Given the description of an element on the screen output the (x, y) to click on. 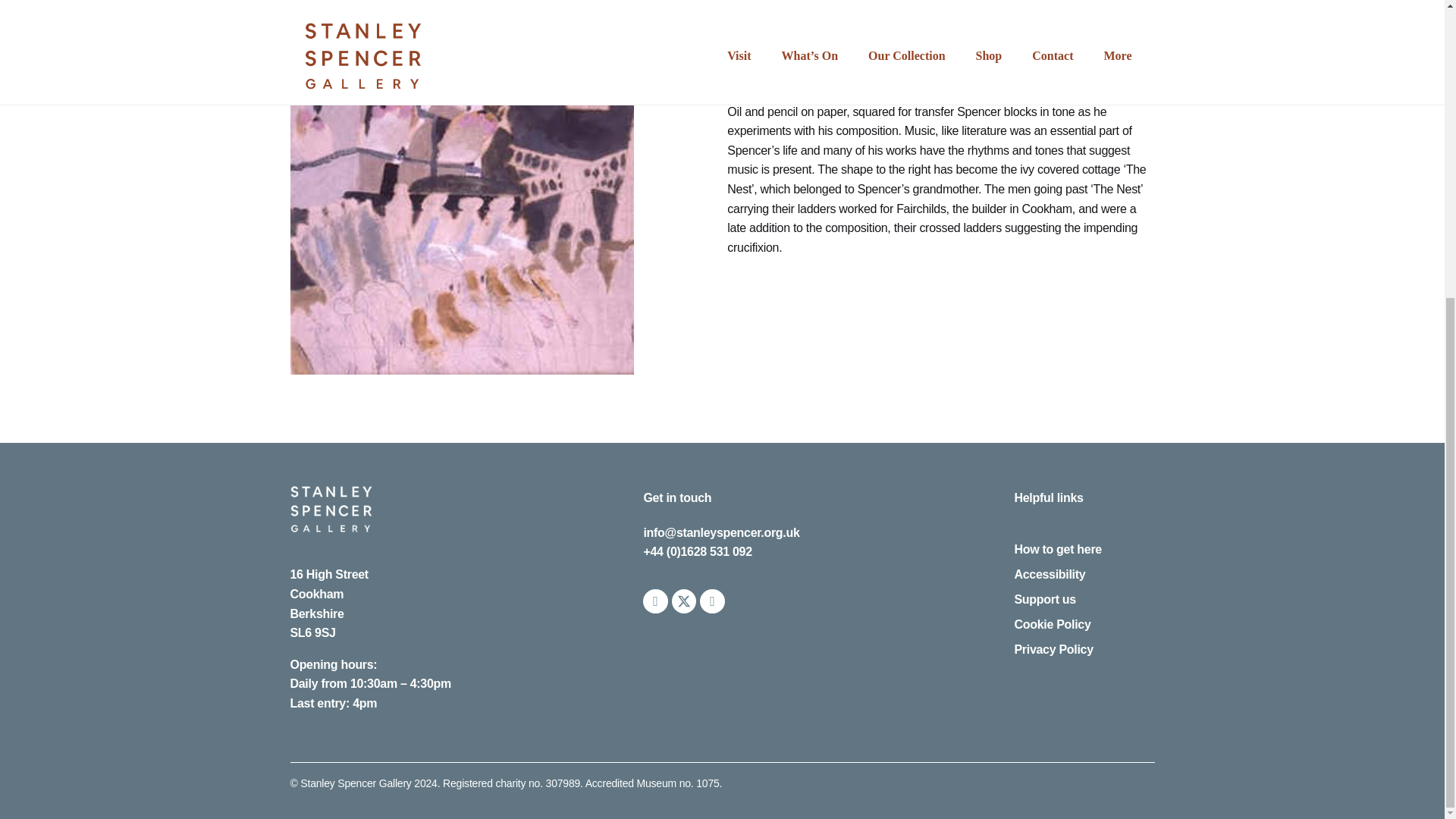
Cookie Policy (1083, 624)
Support us (1083, 599)
How to get here (1083, 549)
Accessibility (1083, 574)
Privacy Policy (1083, 649)
